Given the description of an element on the screen output the (x, y) to click on. 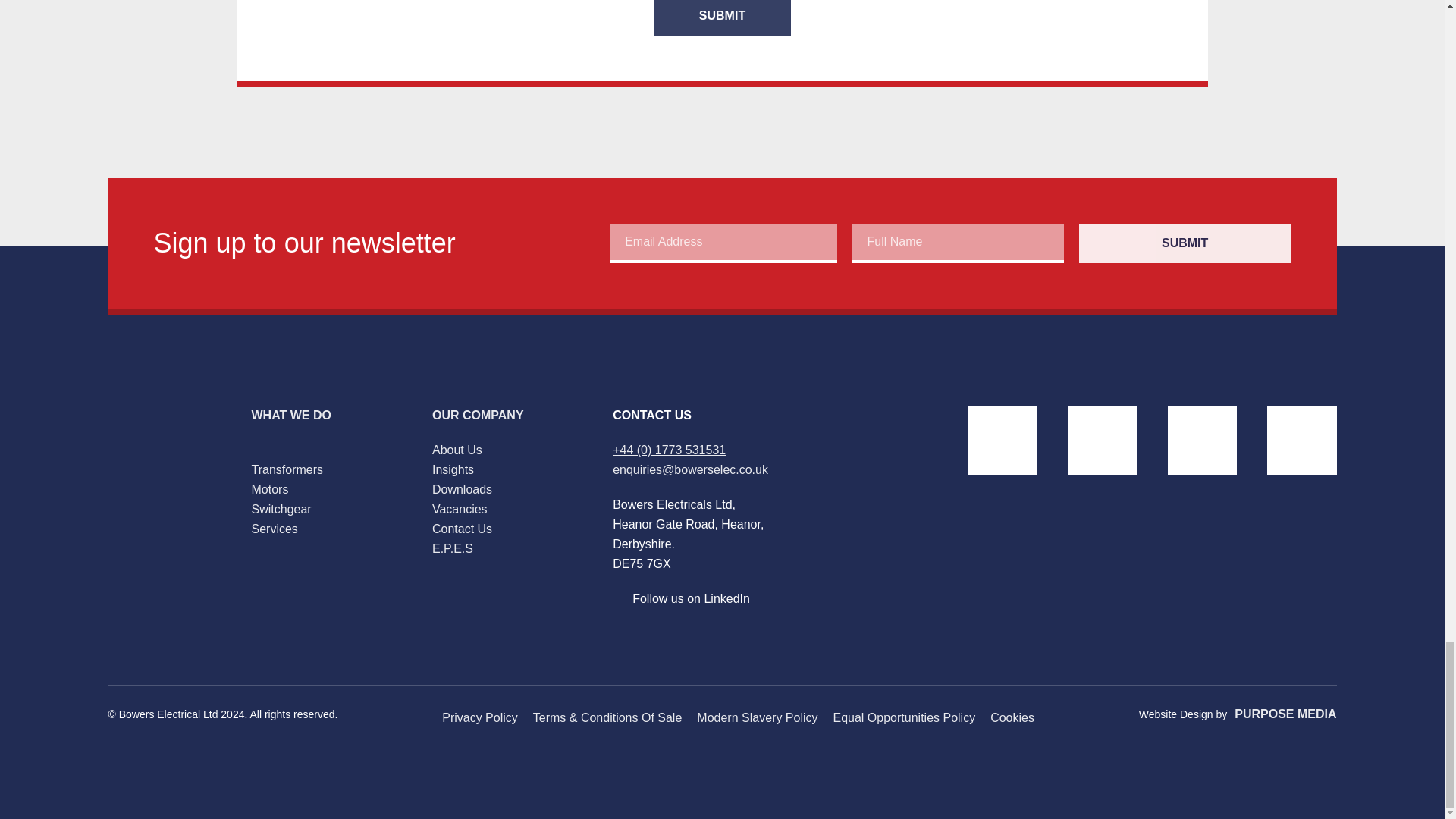
Link to Purpose Media Web Design (1285, 713)
Submit (1184, 242)
Submit (721, 18)
